Given the description of an element on the screen output the (x, y) to click on. 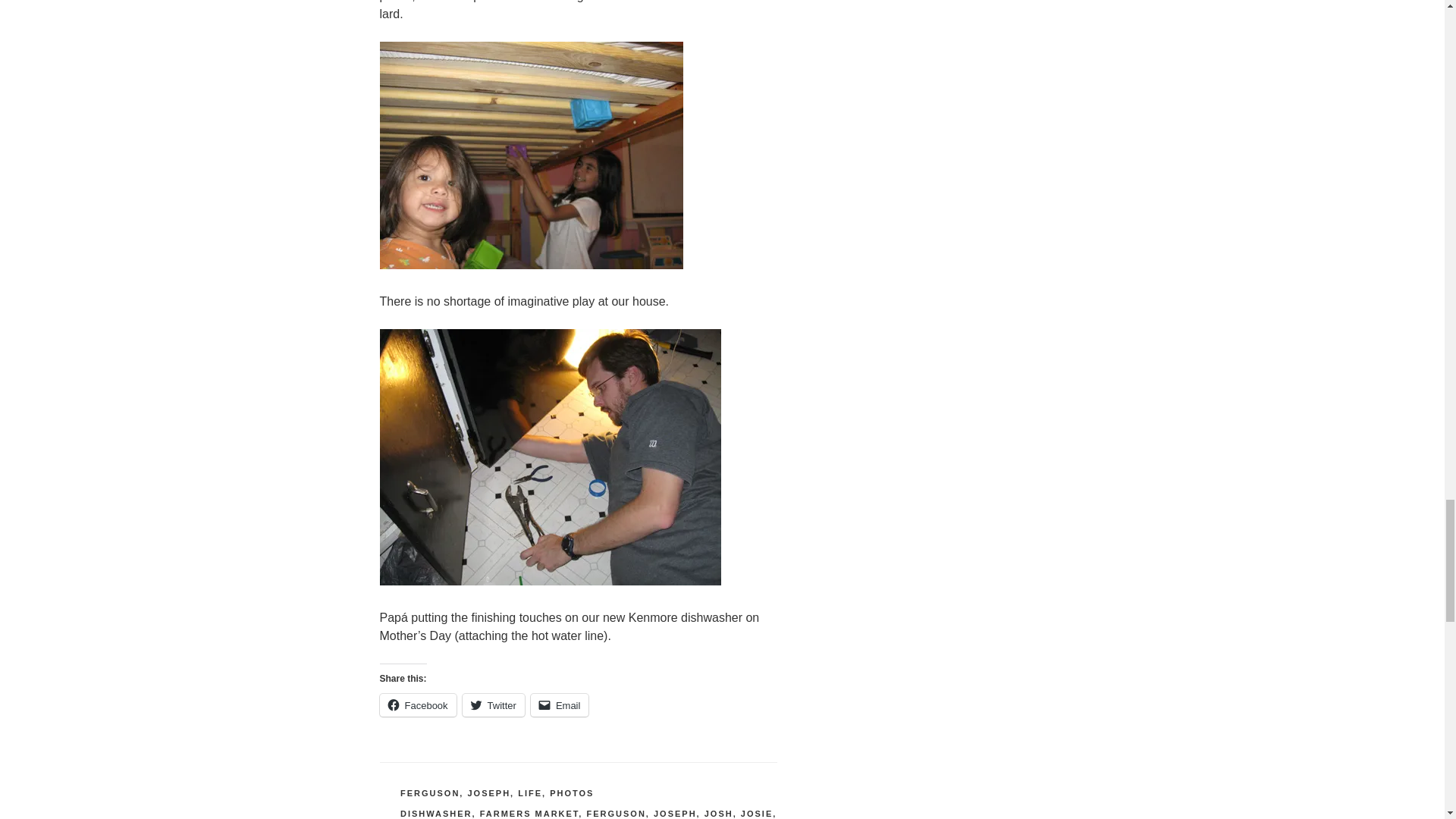
FARMERS MARKET (529, 813)
JOSEPH (489, 792)
JOSEPH (675, 813)
Click to email a link to a friend (560, 704)
FERGUSON (615, 813)
Facebook (416, 704)
Email (560, 704)
PHOTOS (572, 792)
LIFE (529, 792)
JOSIE (757, 813)
